Given the description of an element on the screen output the (x, y) to click on. 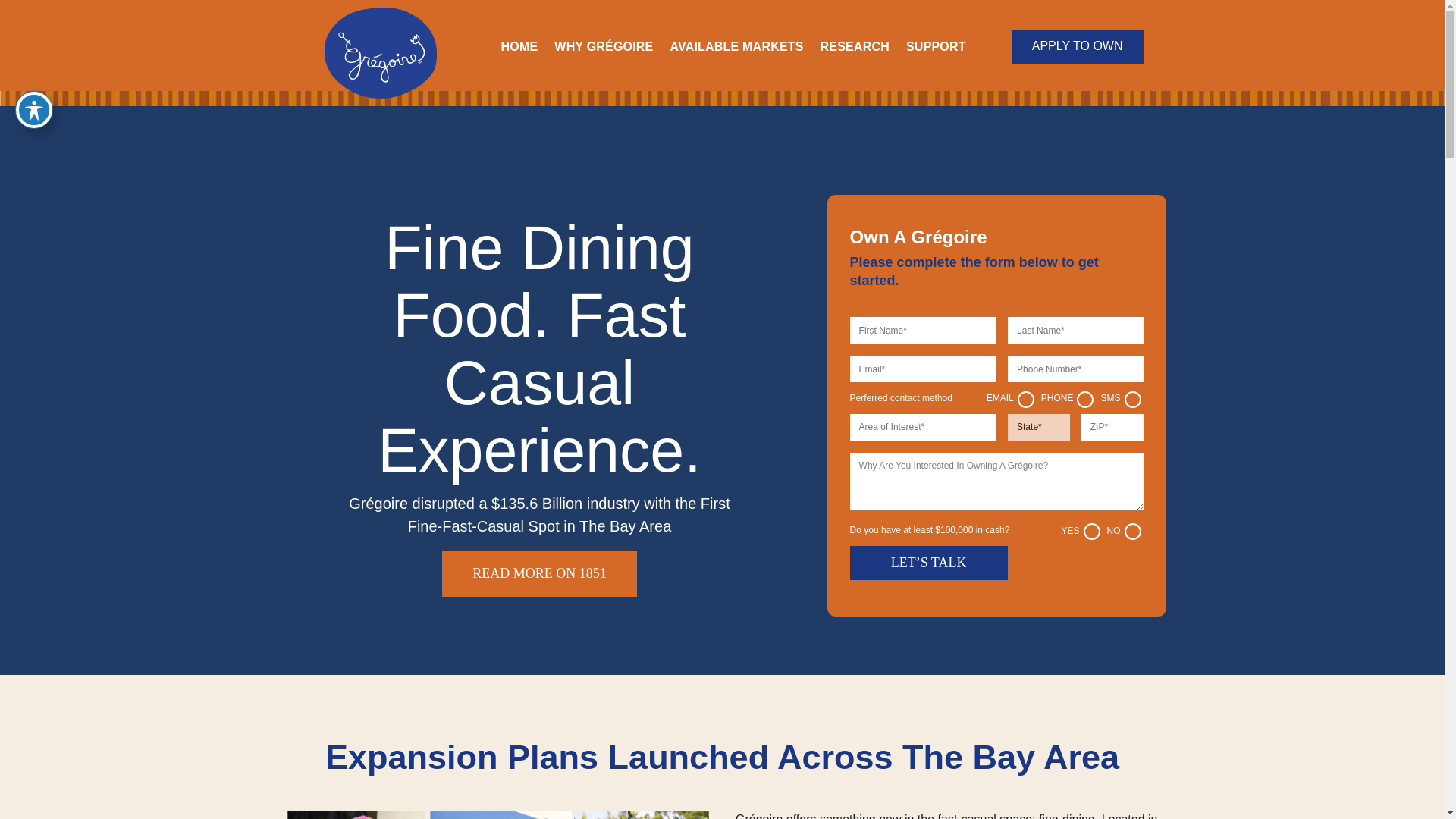
HOME (519, 48)
Phone (1085, 399)
Email (1025, 399)
RESEARCH (855, 48)
READ MORE ON 1851 (539, 573)
reader (380, 93)
SUPPORT (935, 48)
yes (1091, 531)
no (1132, 531)
plans (494, 814)
APPLY TO OWN (1076, 46)
SMS (1132, 399)
AVAILABLE MARKETS (736, 48)
gregoire-logo (380, 52)
